Given the description of an element on the screen output the (x, y) to click on. 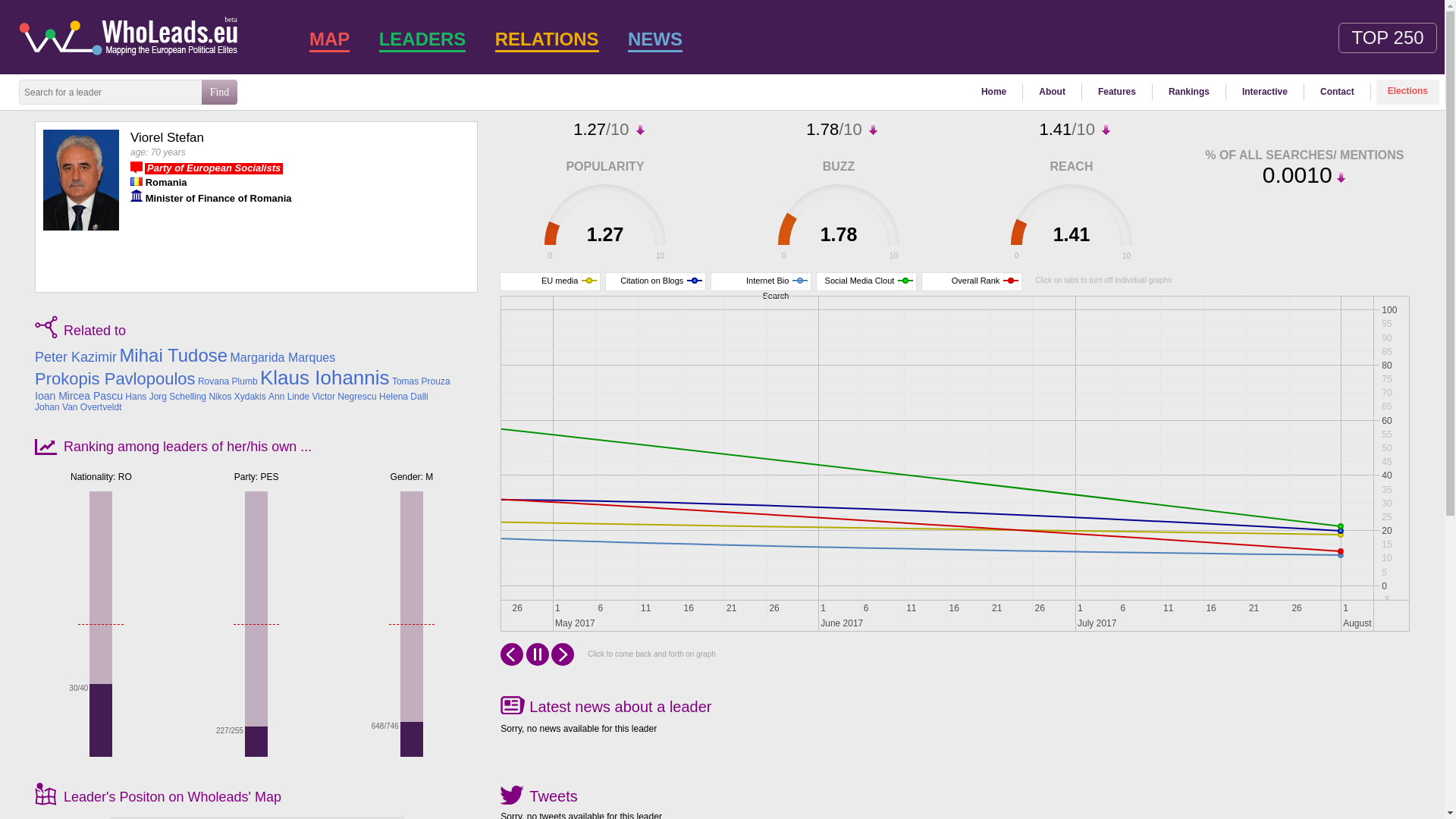
RELATIONS (547, 38)
Find (219, 91)
Rovana Plumb (227, 380)
Klaus Iohannis (325, 377)
NEWS (655, 38)
Official position (136, 195)
Prokopis Pavlopoulos (114, 379)
Features (1116, 91)
Margarida Marques (282, 357)
Interactive (1264, 91)
